Given the description of an element on the screen output the (x, y) to click on. 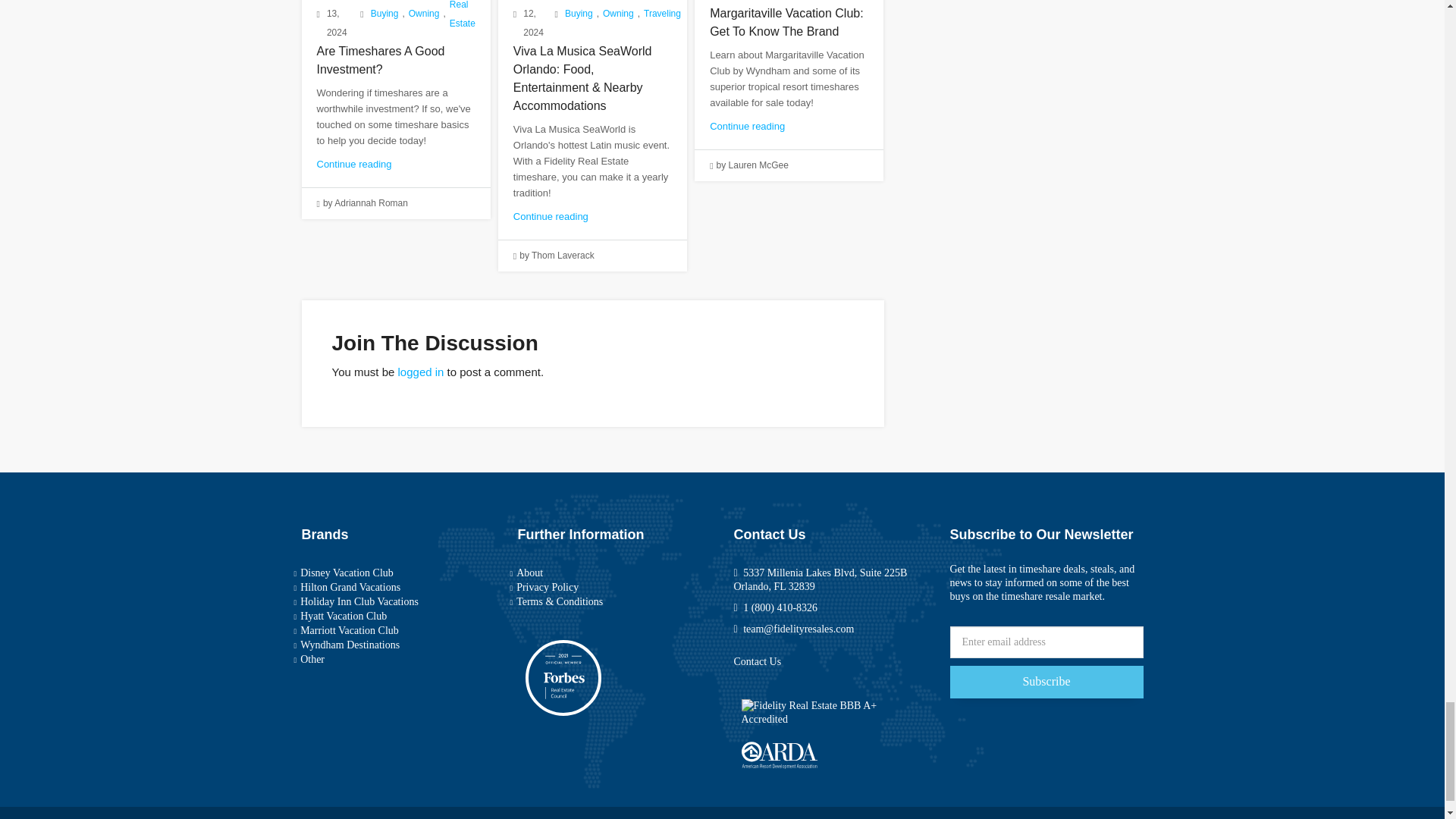
2021 Official Member Forbes Real Estate Council (561, 677)
Subscribe (1045, 681)
